Given the description of an element on the screen output the (x, y) to click on. 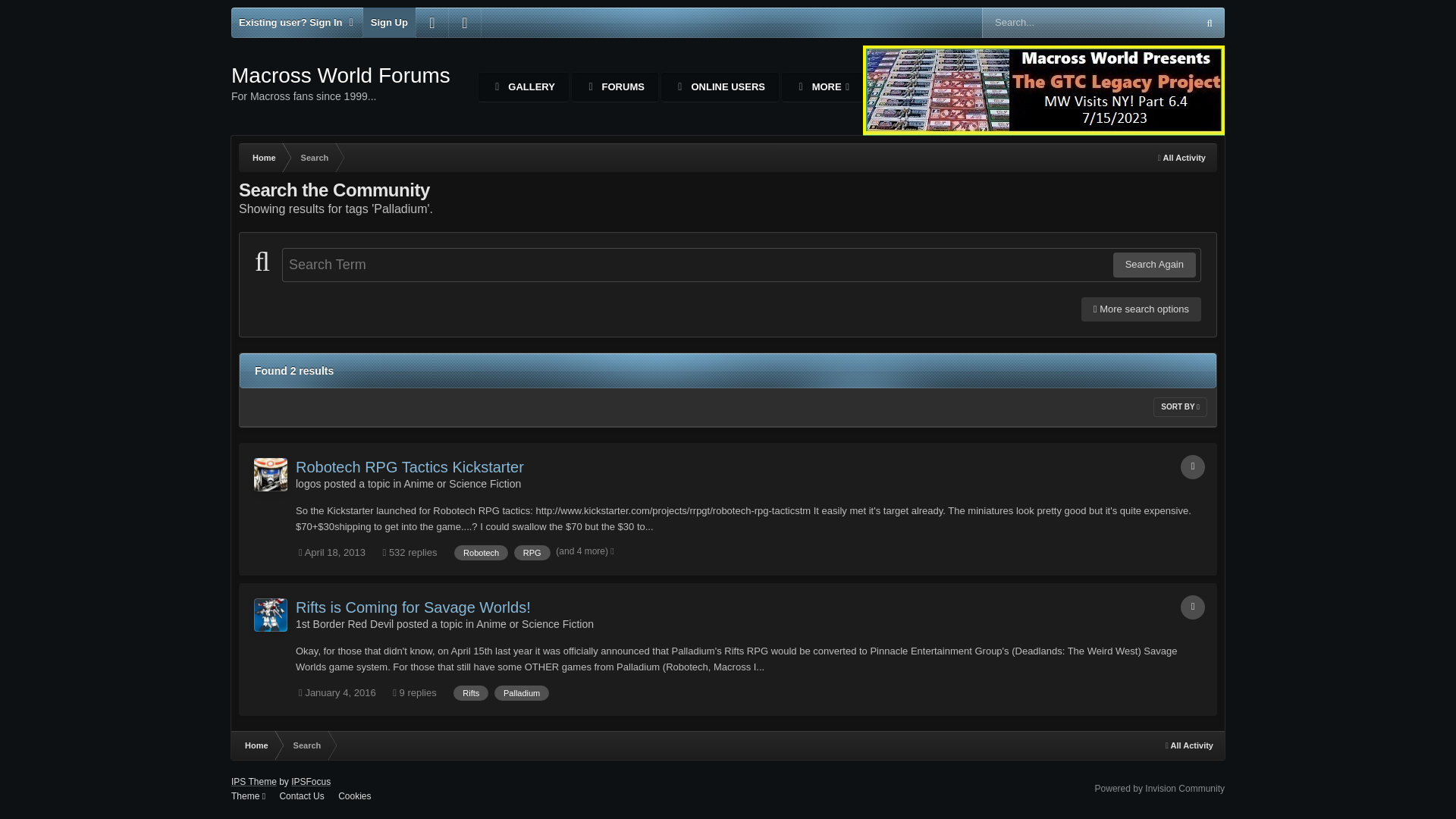
Topic (1192, 467)
Go to 1st Border Red Devil's profile (269, 614)
FORUMS (615, 86)
Existing user? Sign In   (340, 82)
Light Mode (296, 22)
Home (464, 22)
ONLINE USERS (262, 157)
All Activity (719, 86)
GALLERY (1182, 157)
Sign Up (524, 86)
Find other content tagged with 'RPG' (388, 22)
Topic (531, 552)
Go to logos's profile (1192, 607)
Search Again (269, 474)
